Given the description of an element on the screen output the (x, y) to click on. 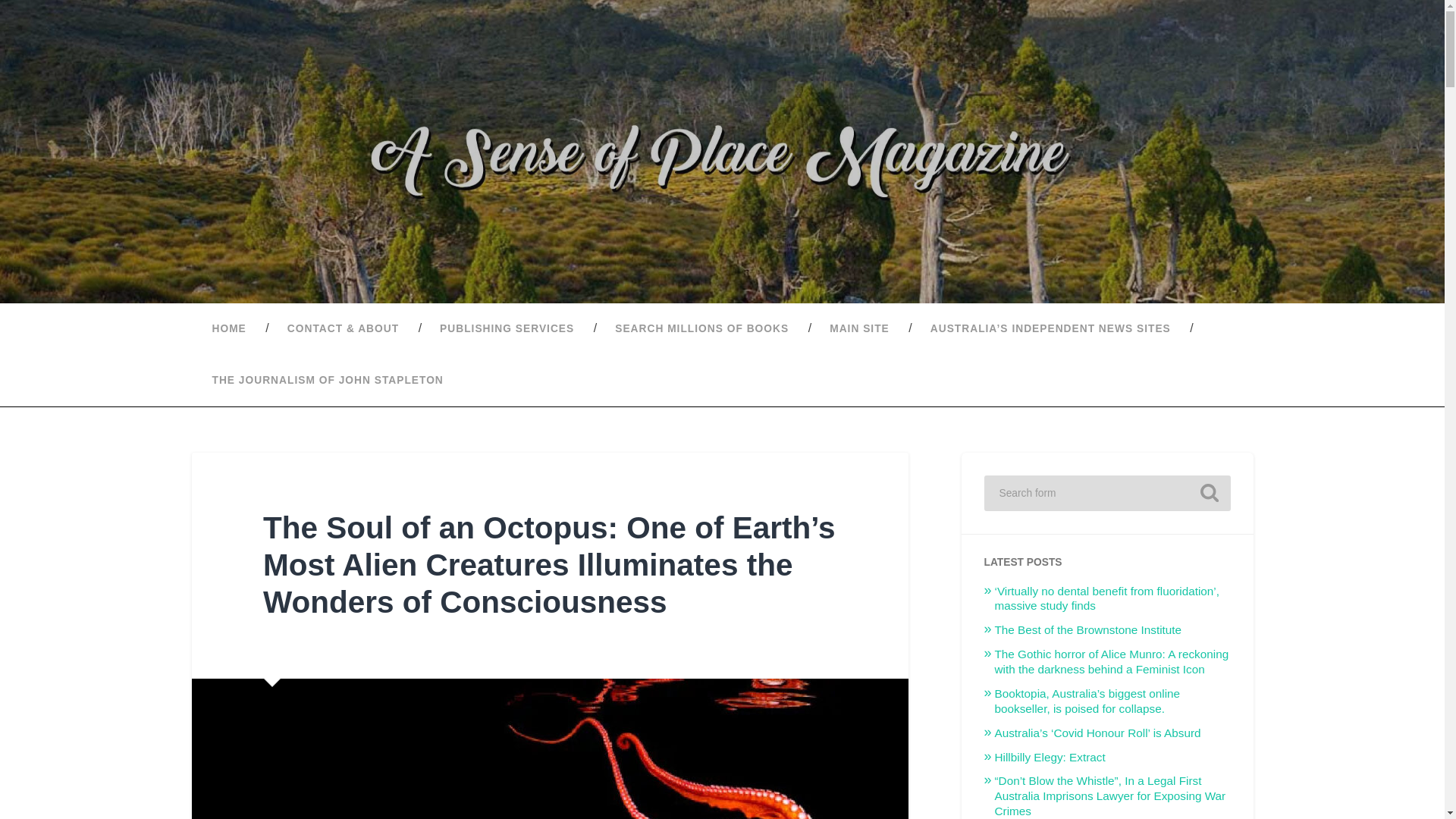
THE JOURNALISM OF JOHN STAPLETON (326, 380)
Search (1209, 492)
MAIN SITE (859, 328)
Search (1209, 492)
HOME (228, 328)
SEARCH MILLIONS OF BOOKS (701, 328)
PUBLISHING SERVICES (506, 328)
